Given the description of an element on the screen output the (x, y) to click on. 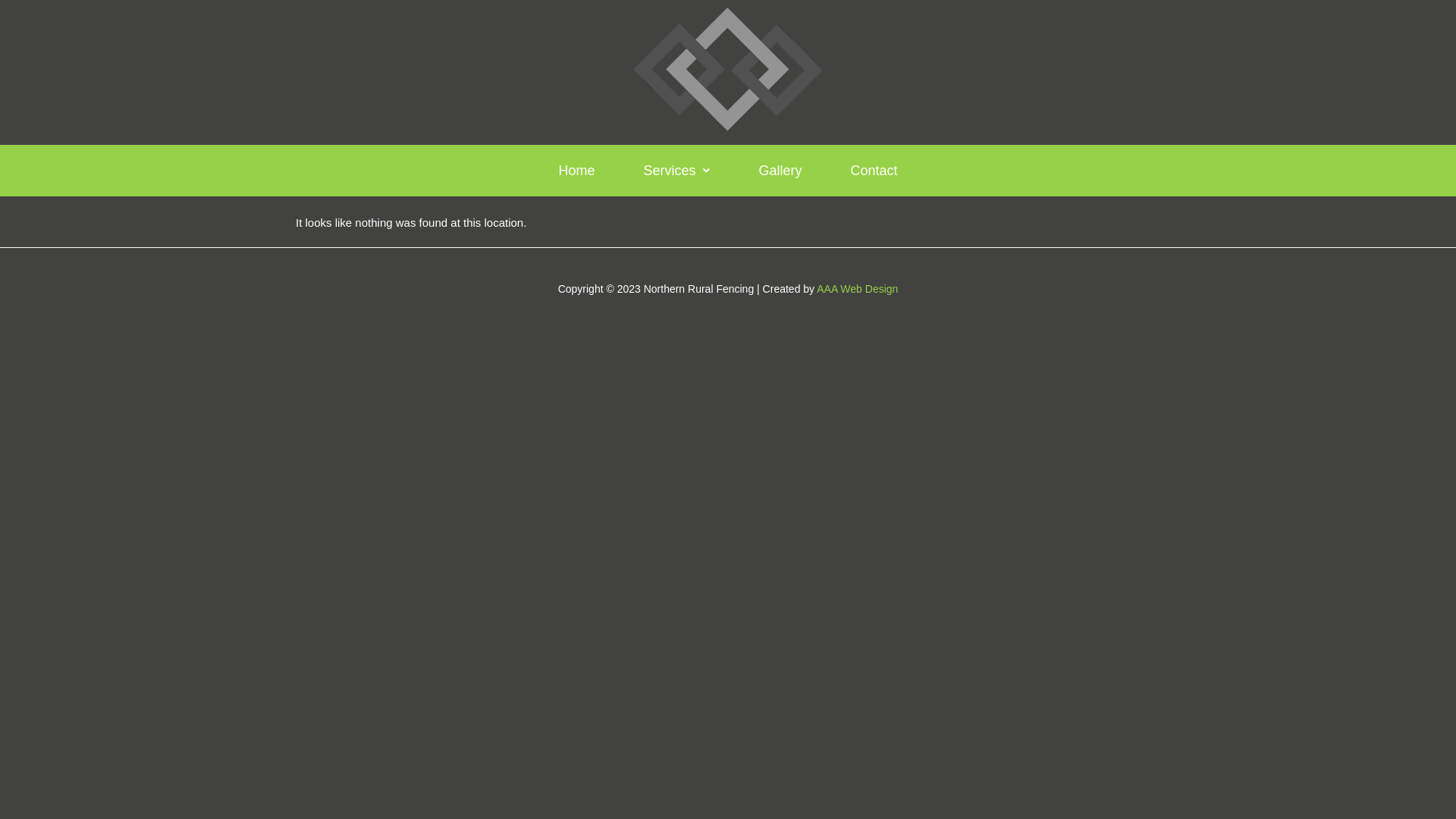
Services Element type: text (676, 169)
Gallery Element type: text (779, 169)
Home Element type: text (575, 169)
Contact Element type: text (874, 169)
AAA Web Design Element type: text (856, 288)
